Given the description of an element on the screen output the (x, y) to click on. 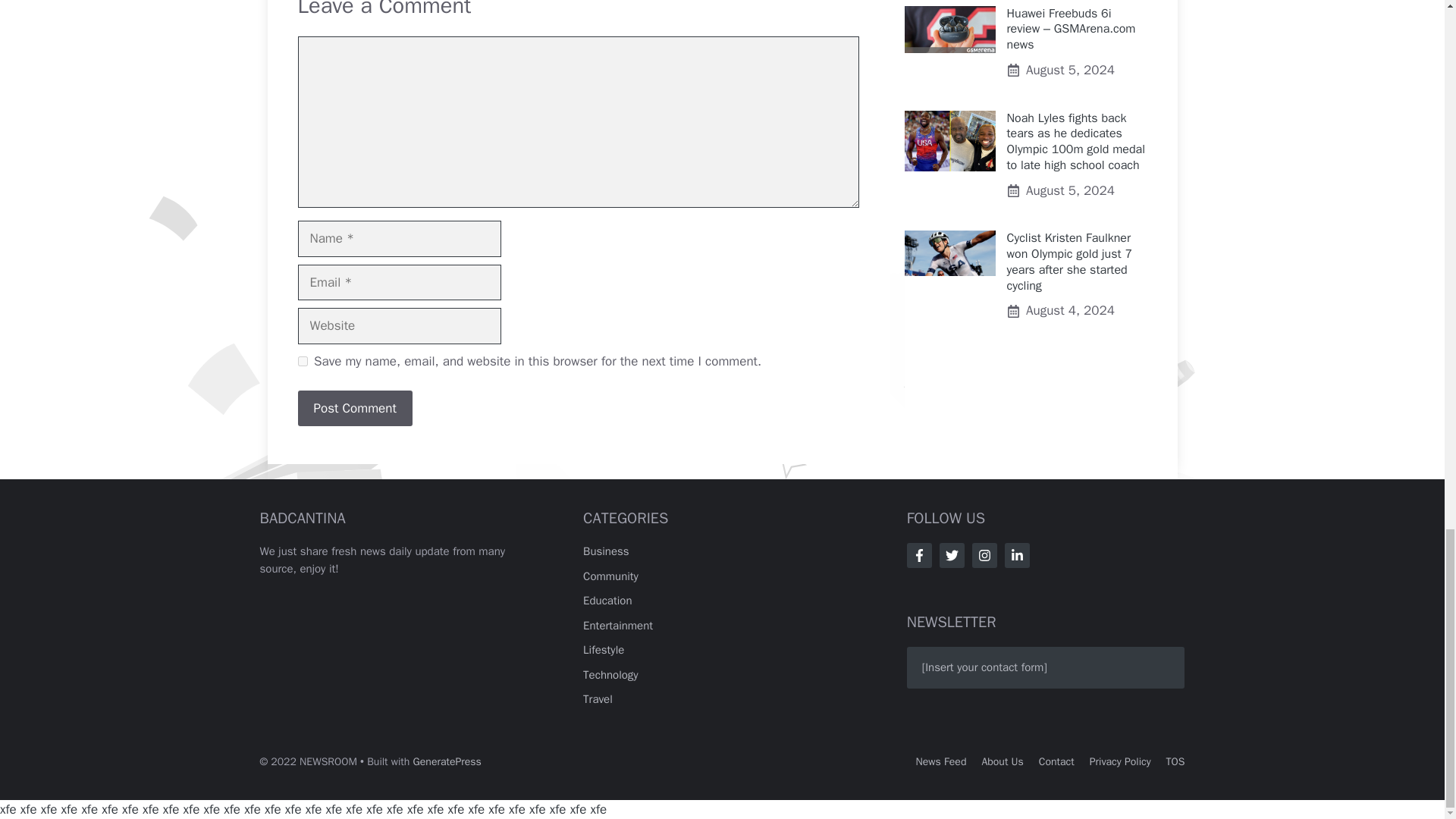
Post Comment (354, 408)
Entertainment (617, 625)
Community (611, 576)
Post Comment (354, 408)
yes (302, 361)
Education (607, 600)
Business (605, 550)
